Given the description of an element on the screen output the (x, y) to click on. 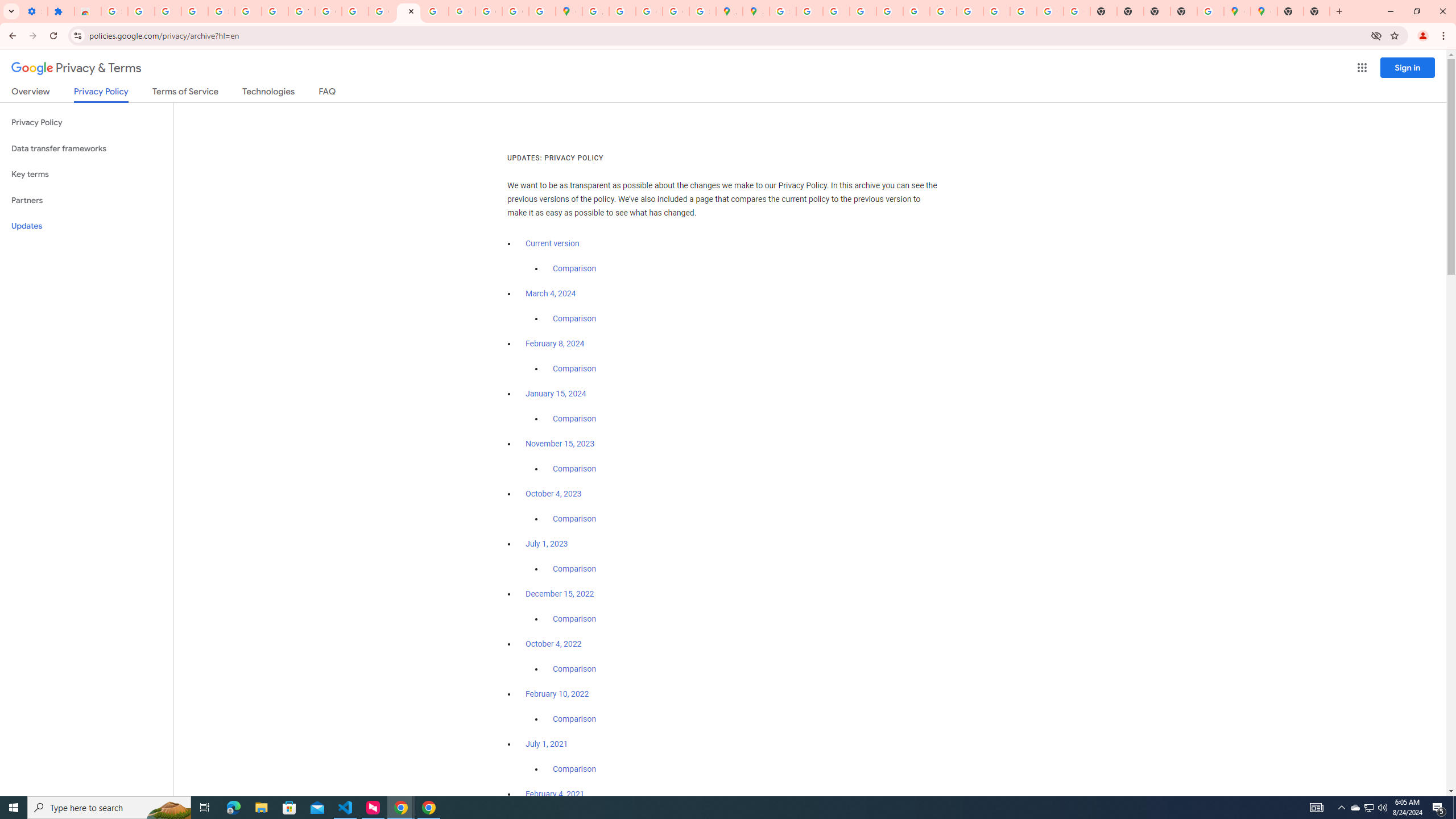
Google Maps (1263, 11)
New Tab (1183, 11)
February 10, 2022 (557, 693)
Sign in - Google Accounts (221, 11)
Reviews: Helix Fruit Jump Arcade Game (87, 11)
